Given the description of an element on the screen output the (x, y) to click on. 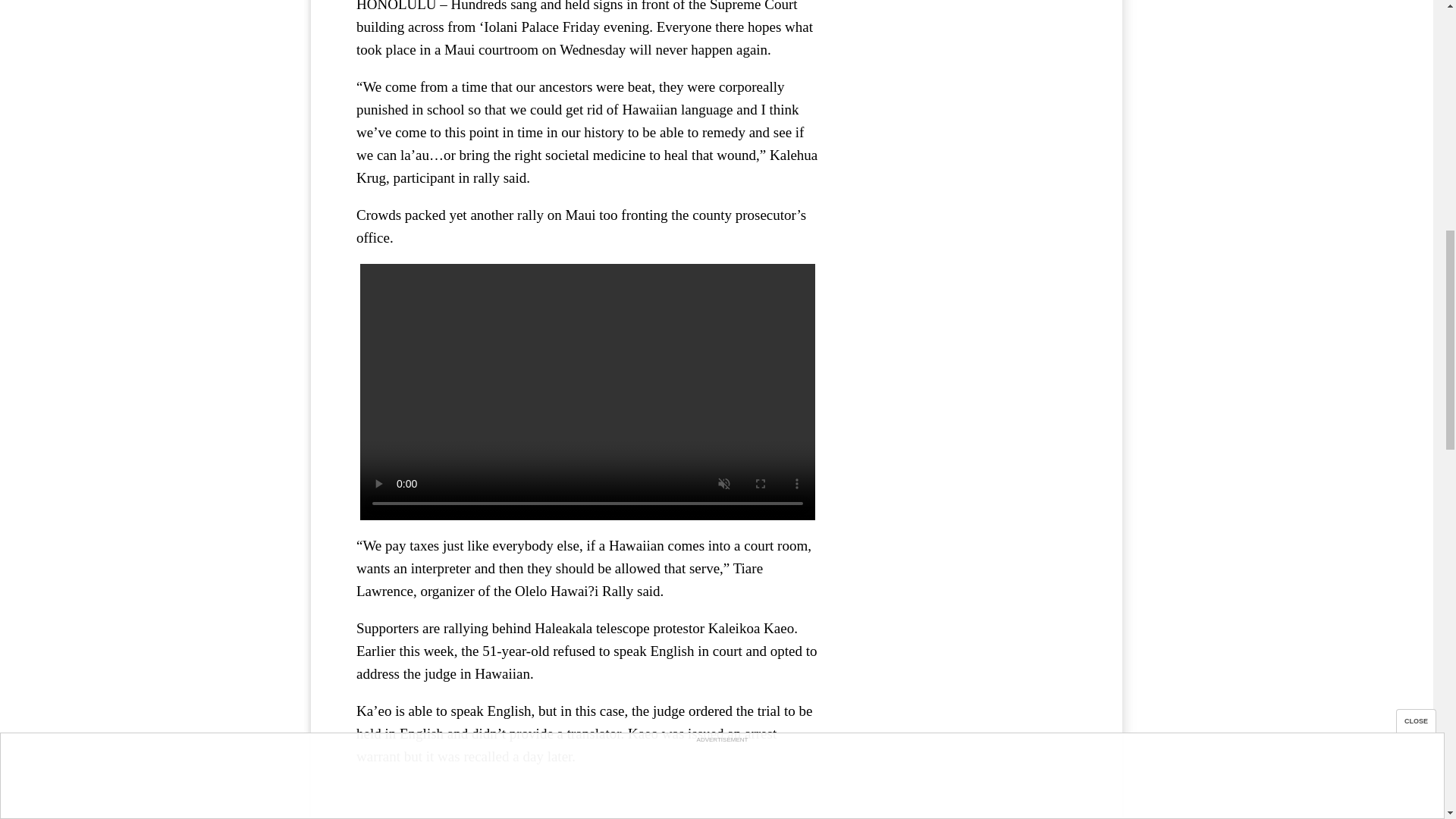
3rd party ad content (962, 80)
